Given the description of an element on the screen output the (x, y) to click on. 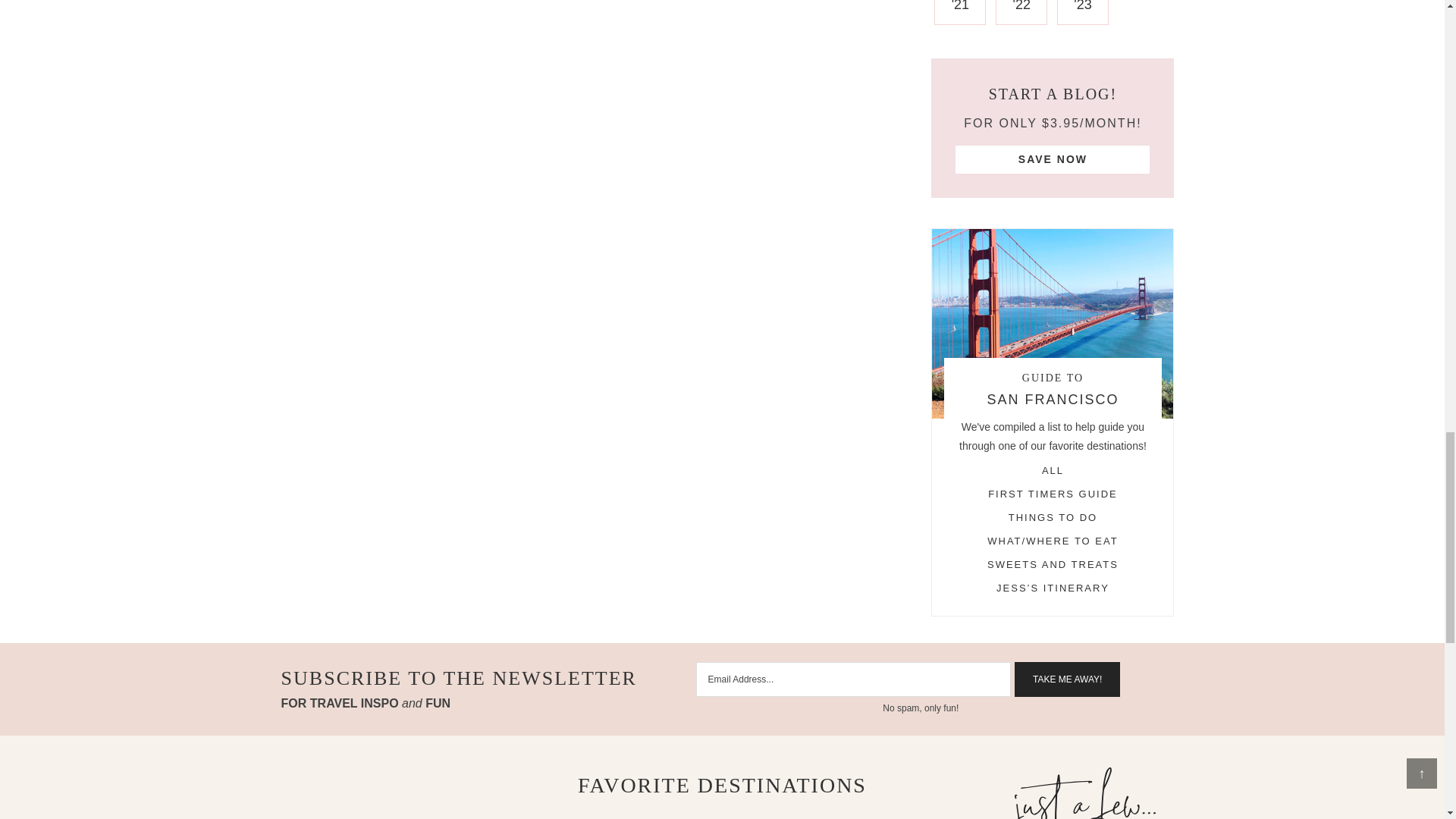
Take Me Away! (1066, 678)
